Given the description of an element on the screen output the (x, y) to click on. 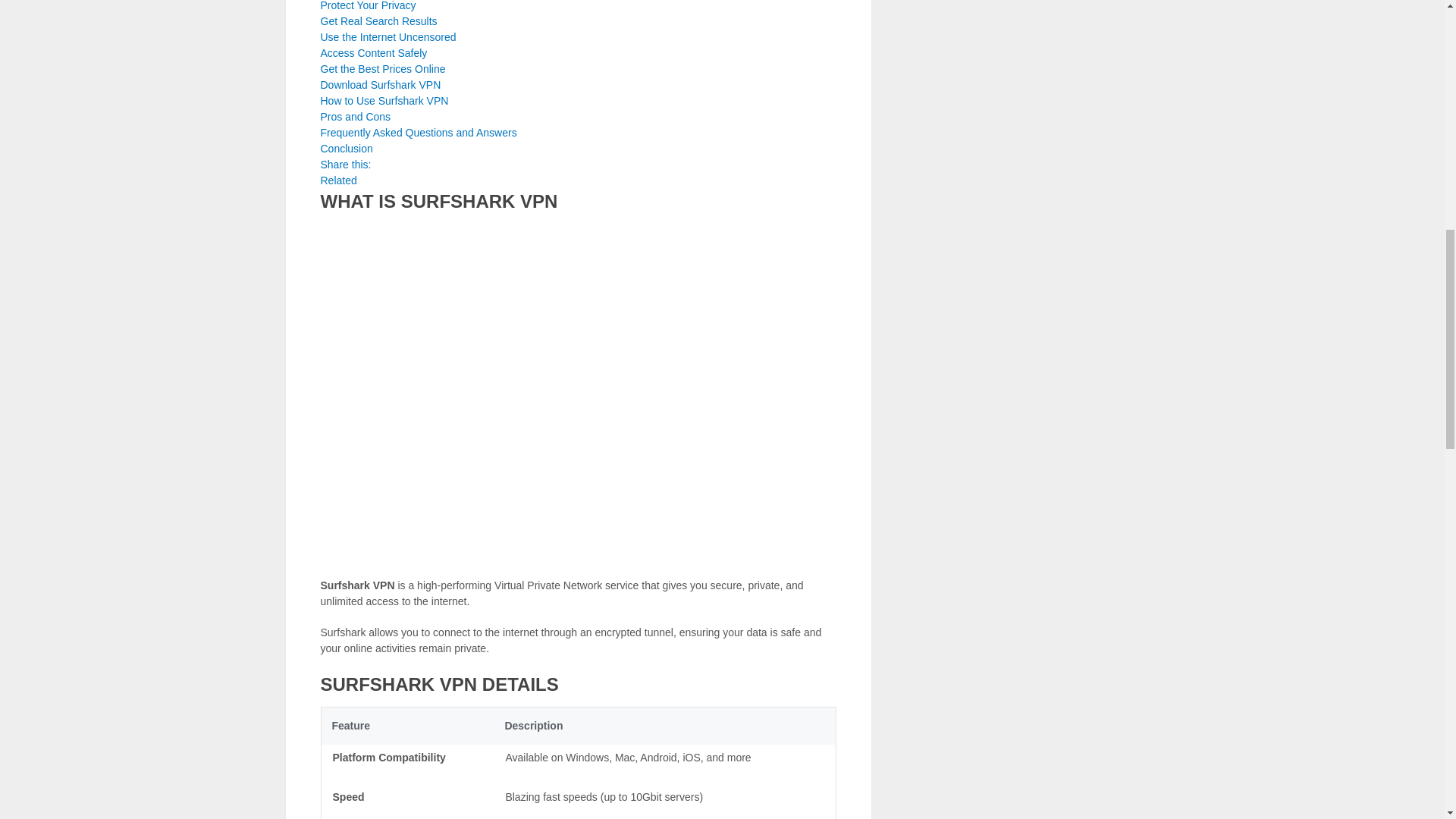
Use the Internet Uncensored (387, 37)
Get Real Search Results (378, 21)
Protect Your Privacy (367, 5)
